Given the description of an element on the screen output the (x, y) to click on. 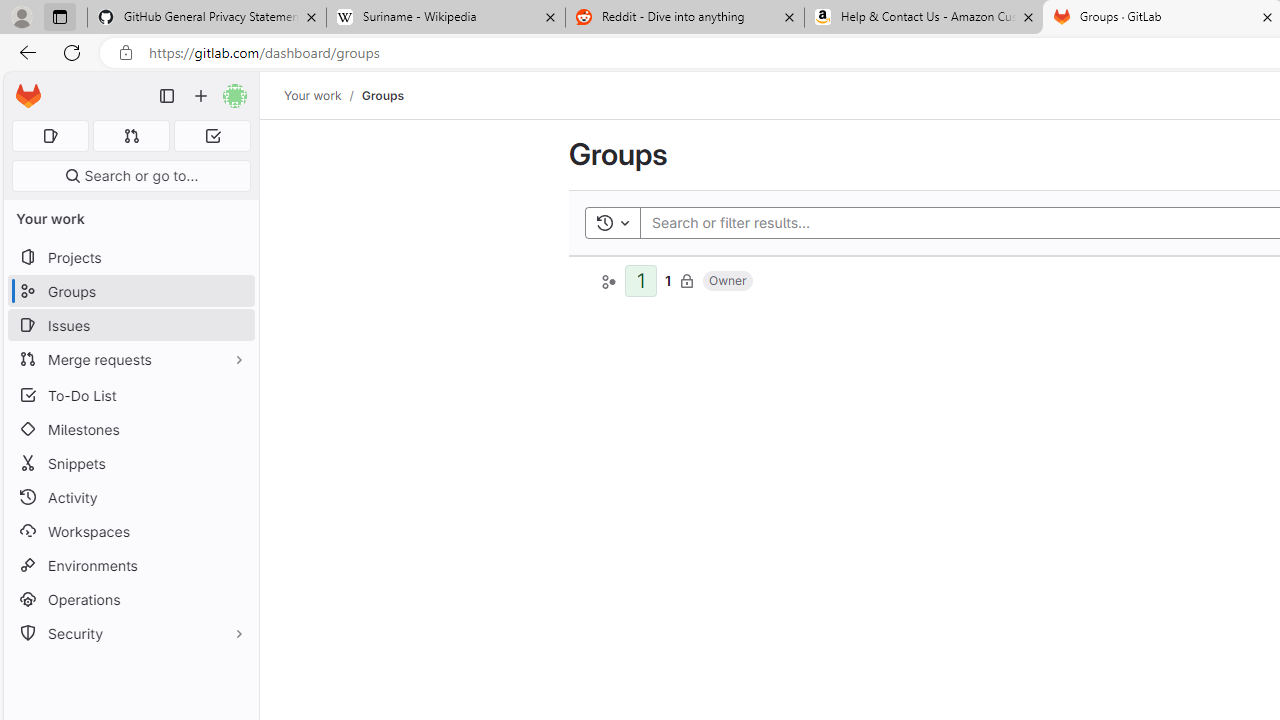
Merge requests (130, 358)
Projects (130, 257)
Suriname - Wikipedia (445, 17)
Operations (130, 599)
Activity (130, 497)
Groups (382, 95)
Merge requests (130, 358)
Assigned issues 0 (50, 136)
Merge requests 0 (131, 136)
To-Do list 0 (212, 136)
